Given the description of an element on the screen output the (x, y) to click on. 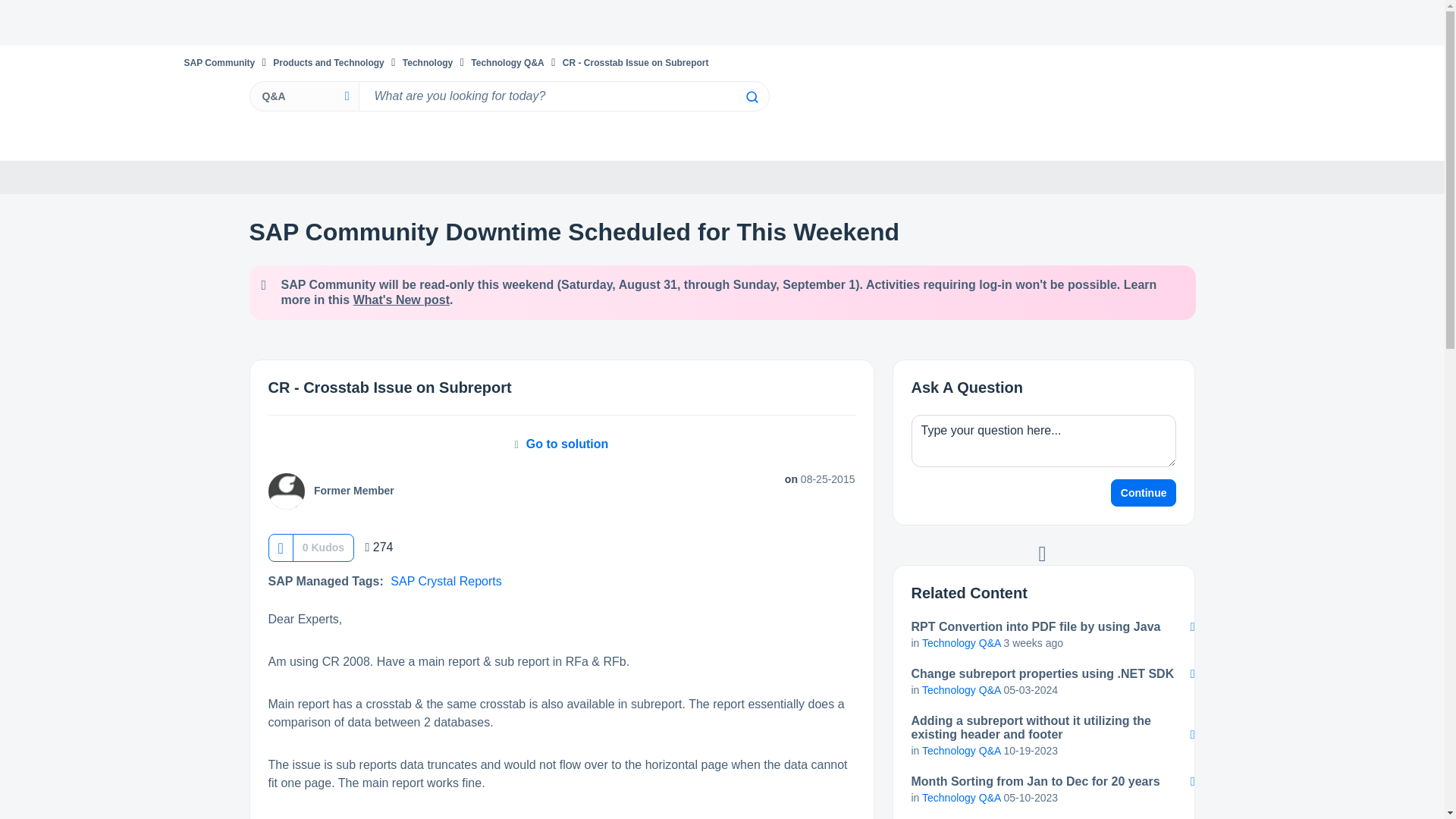
What's New post (401, 299)
Products and Technology (328, 62)
RPT Convertion into PDF file by using Java (1043, 626)
Search (750, 96)
Continue (1143, 492)
Search (563, 96)
SAP Crystal Reports (445, 581)
Search (750, 96)
Technology (427, 62)
SAP Community (218, 62)
